Given the description of an element on the screen output the (x, y) to click on. 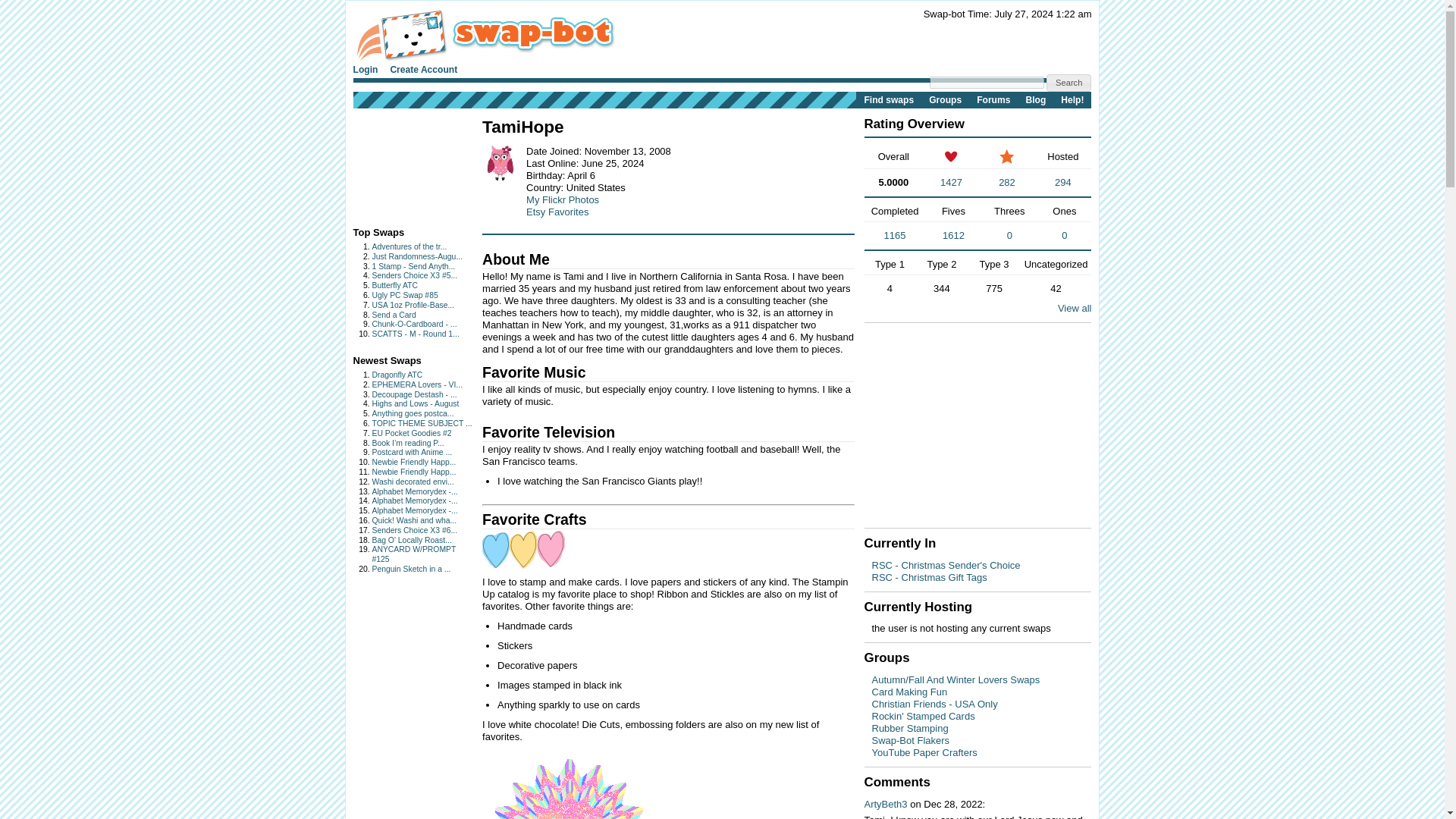
View the details of Dragonfly ATC (396, 375)
Create Account (429, 69)
Postcard with Anime ... (411, 451)
View the details of Just Randomness-August 2024 (417, 256)
View the details of Chunk-O-Cardboard - August 2024 (414, 324)
Dragonfly ATC (396, 375)
Groups (945, 99)
Search (1069, 82)
Alphabet Memorydex -... (414, 491)
Butterfly ATC (393, 285)
Blog (1034, 99)
TOPIC THEME SUBJECT ... (421, 423)
SCATTS - M - Round 1... (414, 334)
Newbie Friendly Happ... (413, 471)
Advertisement (400, 164)
